Given the description of an element on the screen output the (x, y) to click on. 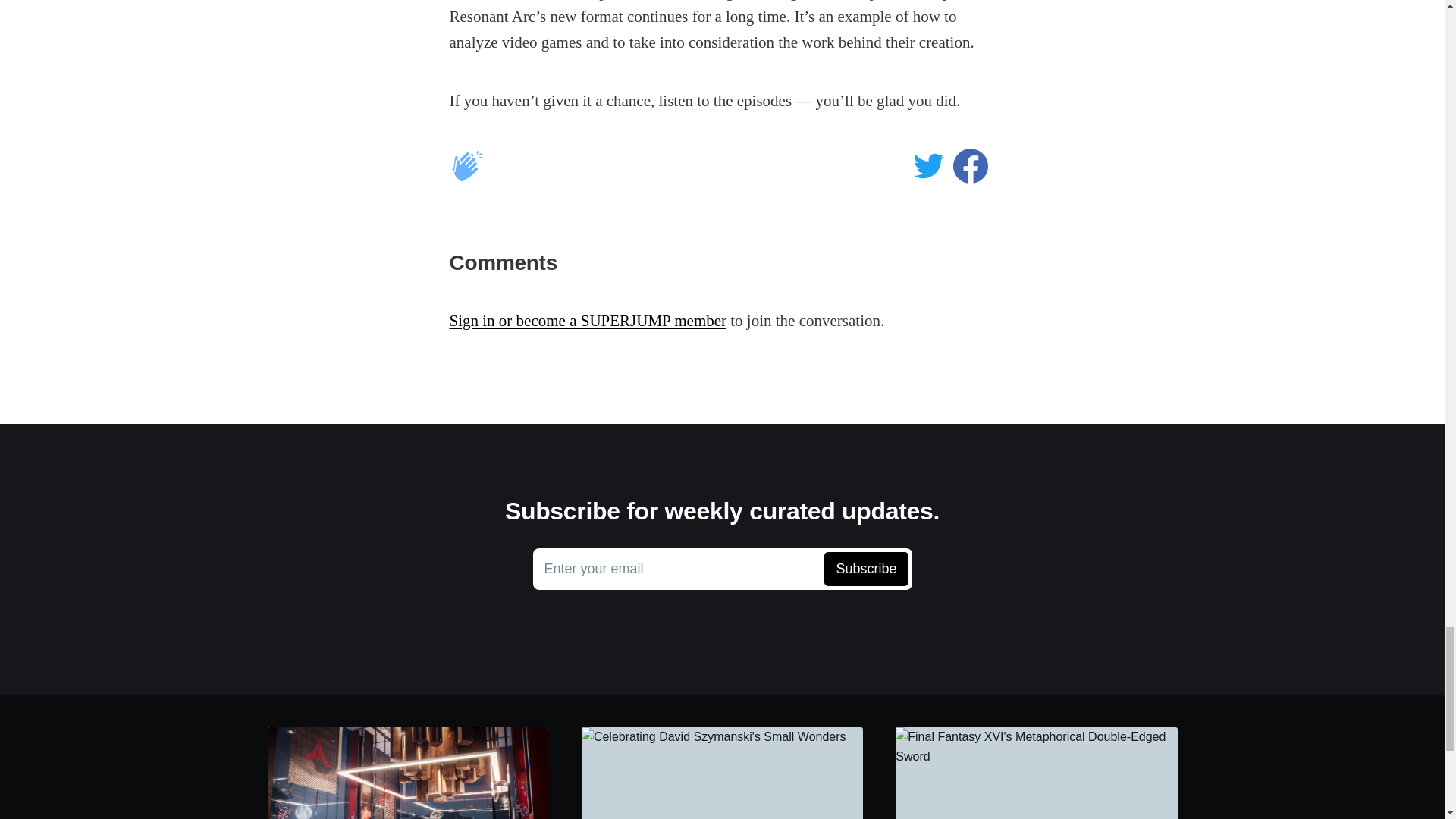
Sign in or become a SUPERJUMP member (721, 568)
